Given the description of an element on the screen output the (x, y) to click on. 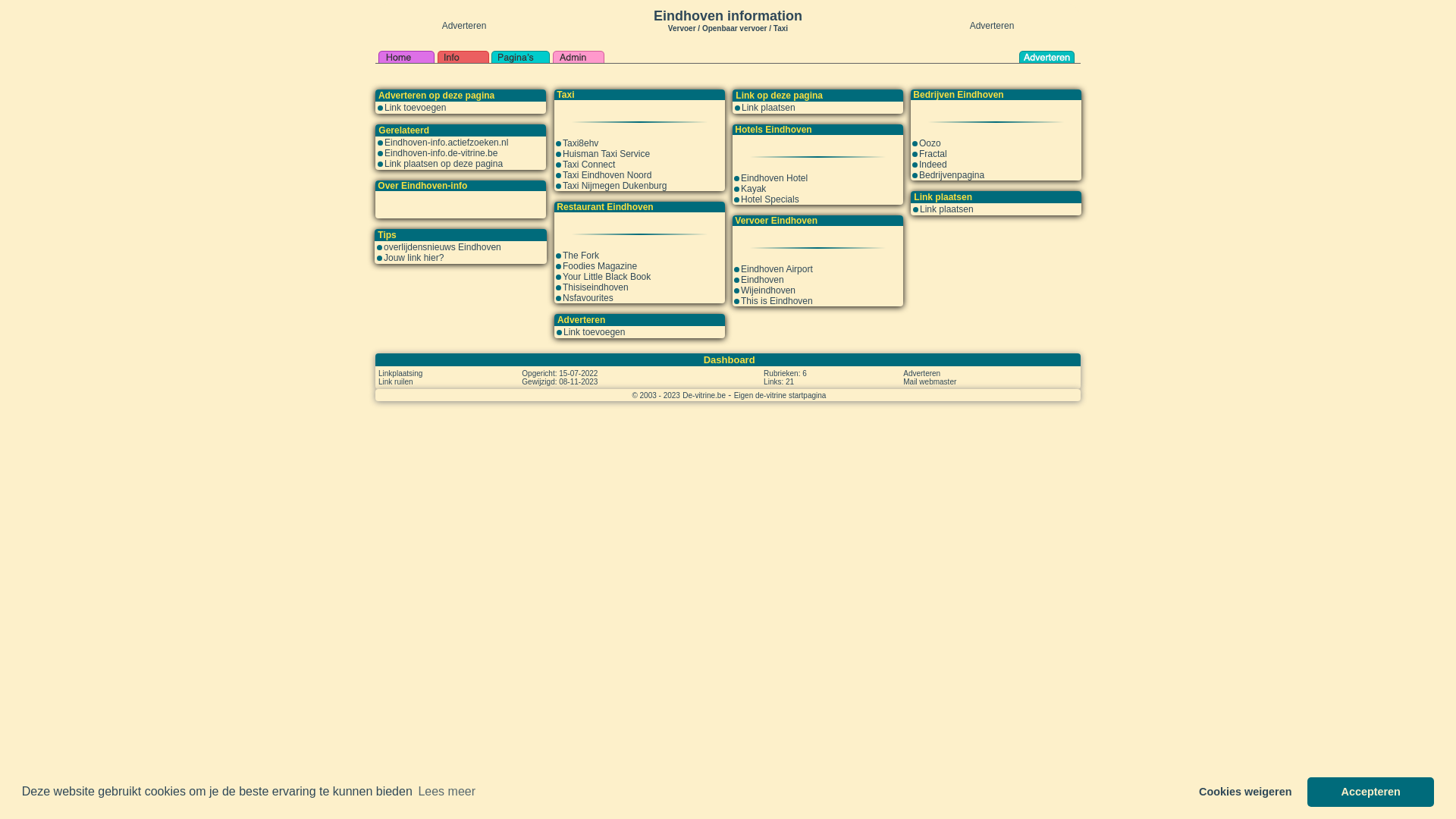
Eindhoven-info.actiefzoeken.nl Element type: text (446, 142)
Link toevoegen Element type: text (414, 107)
Eindhoven information Element type: text (727, 15)
Eigen de-vitrine startpagina Element type: text (780, 394)
Linkplaatsing Element type: text (400, 372)
Wijeindhoven Element type: text (767, 290)
Foodies Magazine Element type: text (599, 265)
Jouw link hier? Element type: text (413, 257)
Thisiseindhoven Element type: text (595, 287)
Taxi Element type: text (780, 28)
Link ruilen Element type: text (395, 381)
Vervoer Element type: text (682, 26)
Link plaatsen Element type: text (946, 208)
De-vitrine.be Element type: text (703, 394)
The Fork Element type: text (580, 255)
Link toevoegen Element type: text (593, 331)
Openbaar vervoer Element type: text (734, 28)
Taxi8ehv Element type: text (580, 143)
Bedrijvenpagina Element type: text (951, 174)
Eindhoven Hotel Element type: text (773, 177)
Eindhoven Airport Element type: text (776, 268)
Lees meer Element type: text (446, 791)
Eindhoven-info.de-vitrine.be Element type: text (440, 152)
Eindhoven Element type: text (762, 279)
Cookies weigeren Element type: text (1245, 791)
Your Little Black Book Element type: text (606, 276)
This is Eindhoven Element type: text (776, 300)
Taxi Connect Element type: text (588, 164)
Taxi Eindhoven Noord Element type: text (606, 174)
Nsfavourites Element type: text (587, 297)
Indeed Element type: text (933, 164)
Link plaatsen Element type: text (768, 107)
Adverteren Element type: text (921, 372)
Accepteren Element type: text (1370, 791)
Taxi Nijmegen Dukenburg Element type: text (614, 185)
Adverteren Element type: text (991, 25)
Fractal Element type: text (933, 153)
Oozo Element type: text (930, 143)
Kayak Element type: text (752, 188)
Link plaatsen op deze pagina Element type: text (443, 163)
Huisman Taxi Service Element type: text (605, 153)
Adverteren Element type: text (464, 25)
overlijdensnieuws Eindhoven Element type: text (442, 246)
Mail webmaster Element type: text (929, 381)
Hotel Specials Element type: text (769, 199)
